Given the description of an element on the screen output the (x, y) to click on. 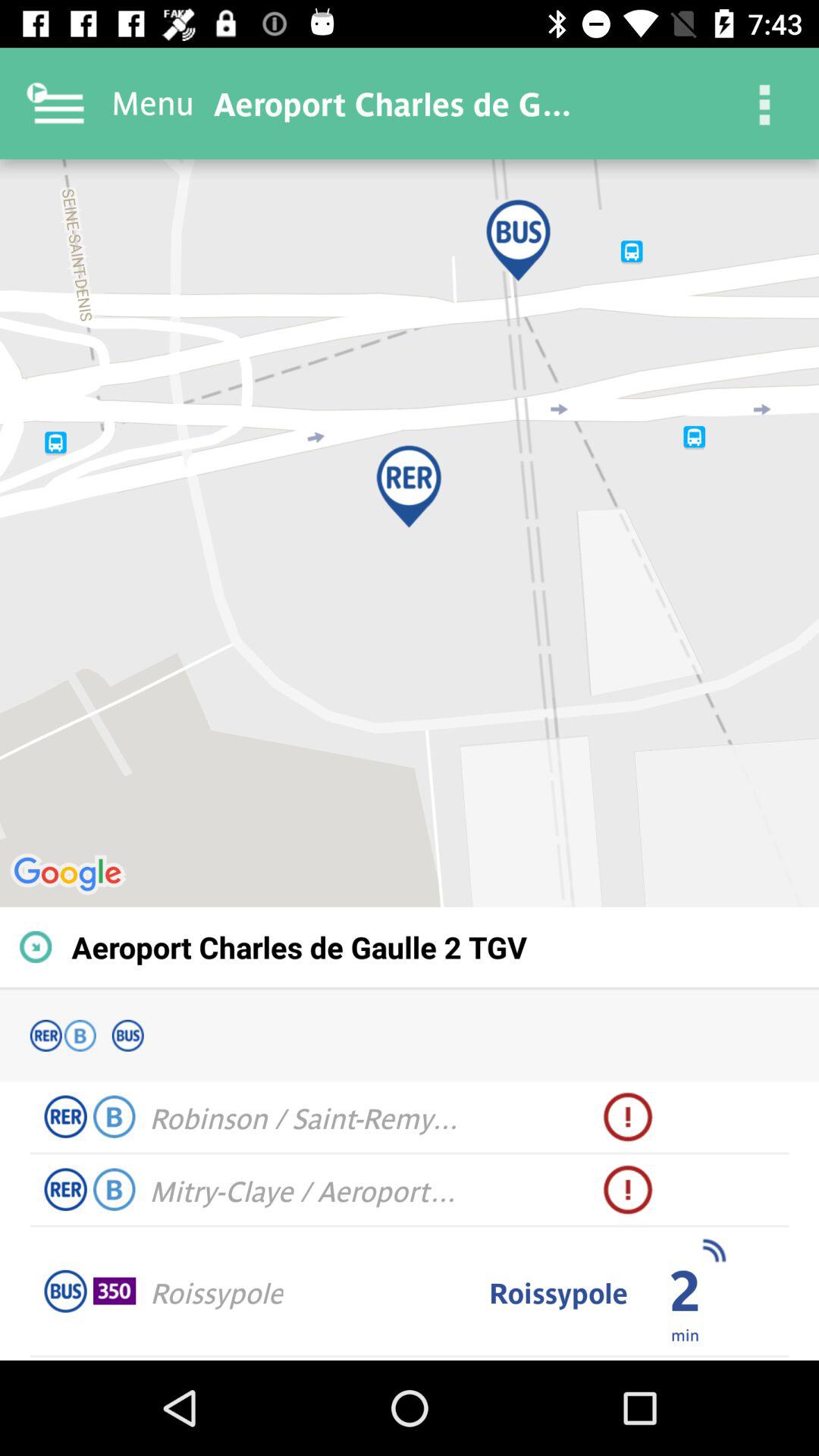
turn off the icon to the right of aeroport charles de (763, 103)
